Given the description of an element on the screen output the (x, y) to click on. 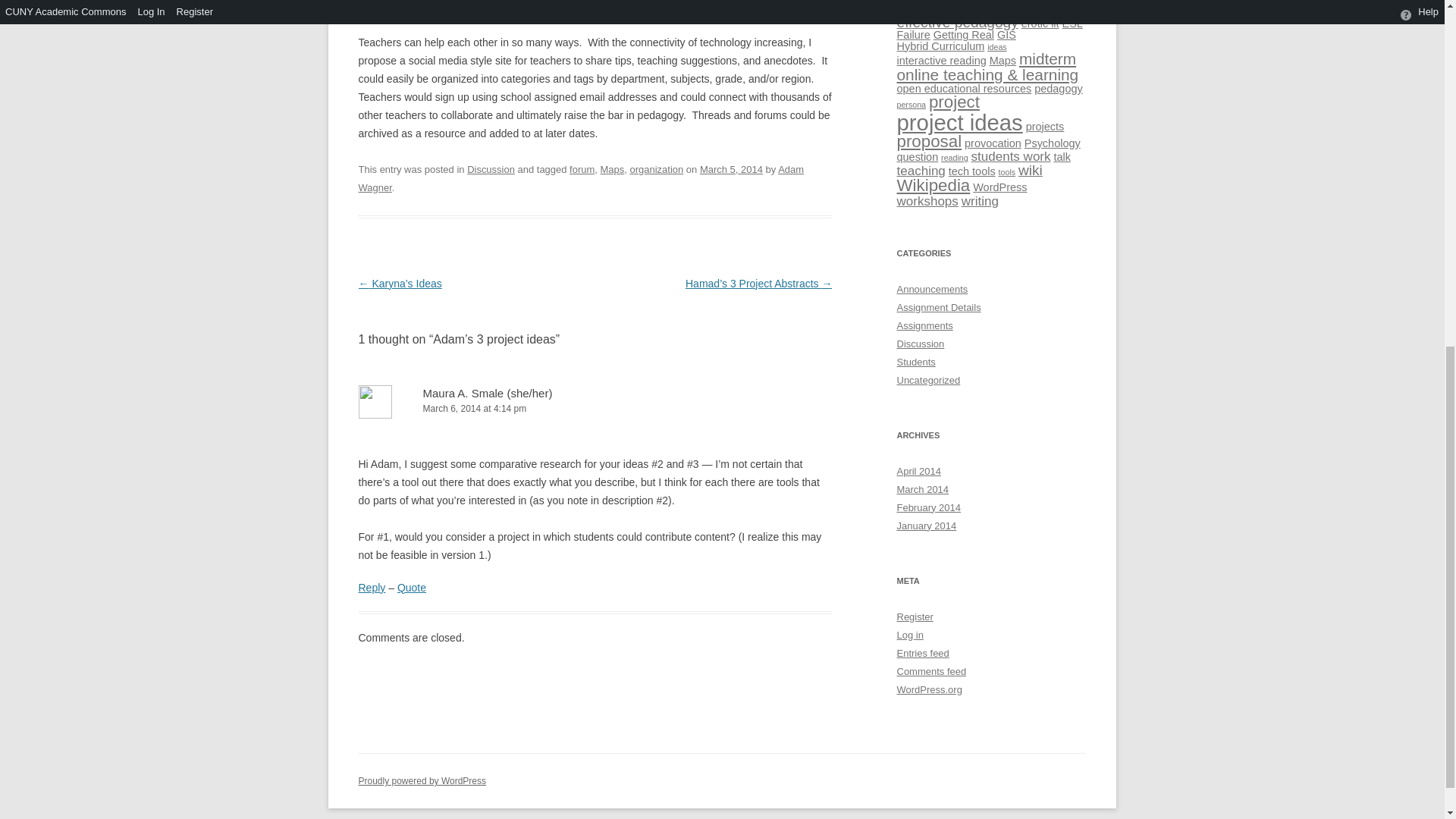
Reply (371, 587)
Maps (611, 169)
Quote (411, 587)
1:53 pm (731, 169)
Adam Wagner (580, 178)
organization (657, 169)
March 5, 2014 (731, 169)
View all posts by Adam Wagner (580, 178)
forum (581, 169)
Semantic Personal Publishing Platform (422, 780)
